Given the description of an element on the screen output the (x, y) to click on. 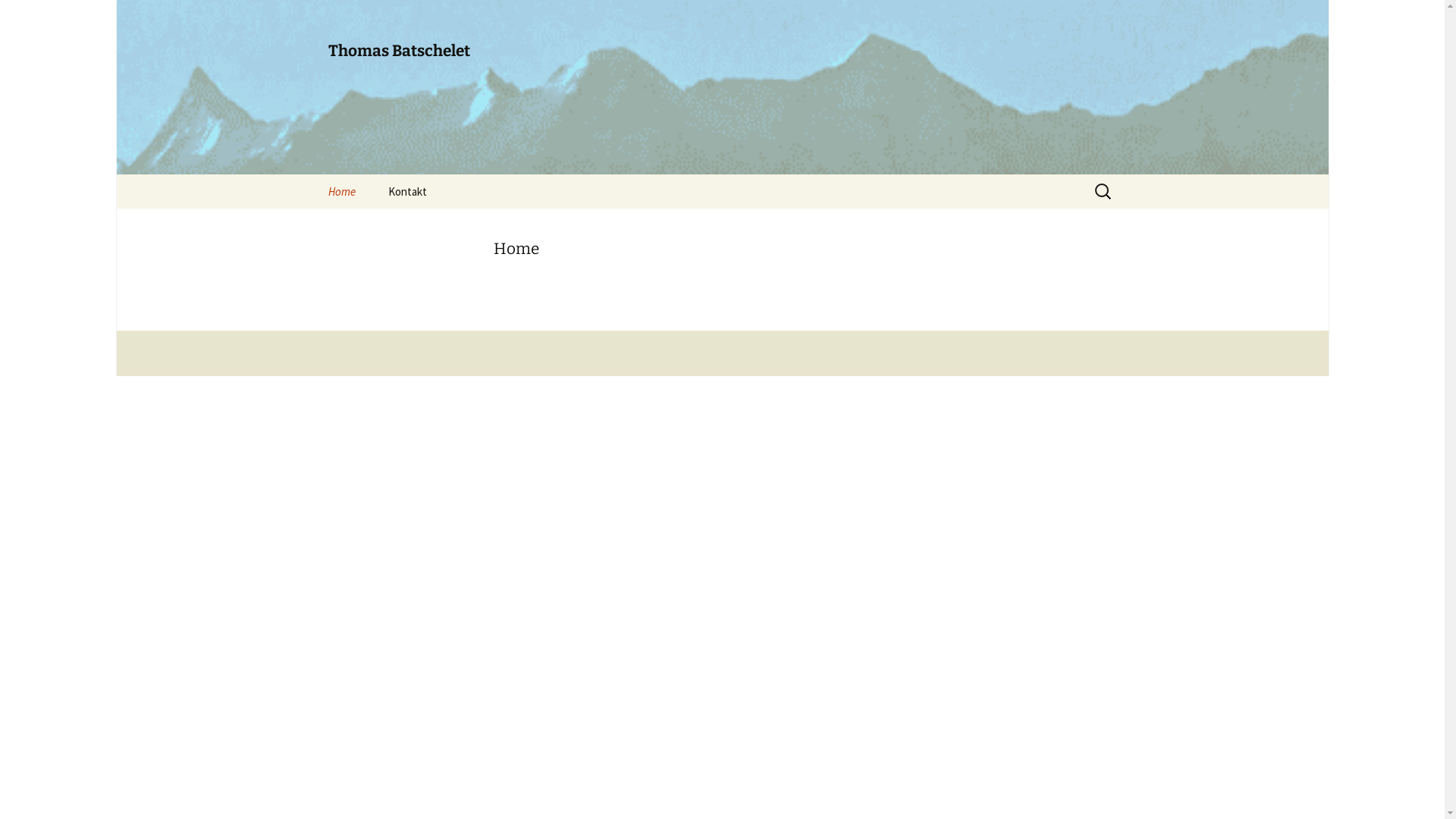
Springe zum Inhalt Element type: text (312, 173)
Kontakt Element type: text (407, 191)
Suche Element type: text (18, 16)
Home Element type: text (341, 191)
Thomas Batschelet Element type: text (721, 87)
